Given the description of an element on the screen output the (x, y) to click on. 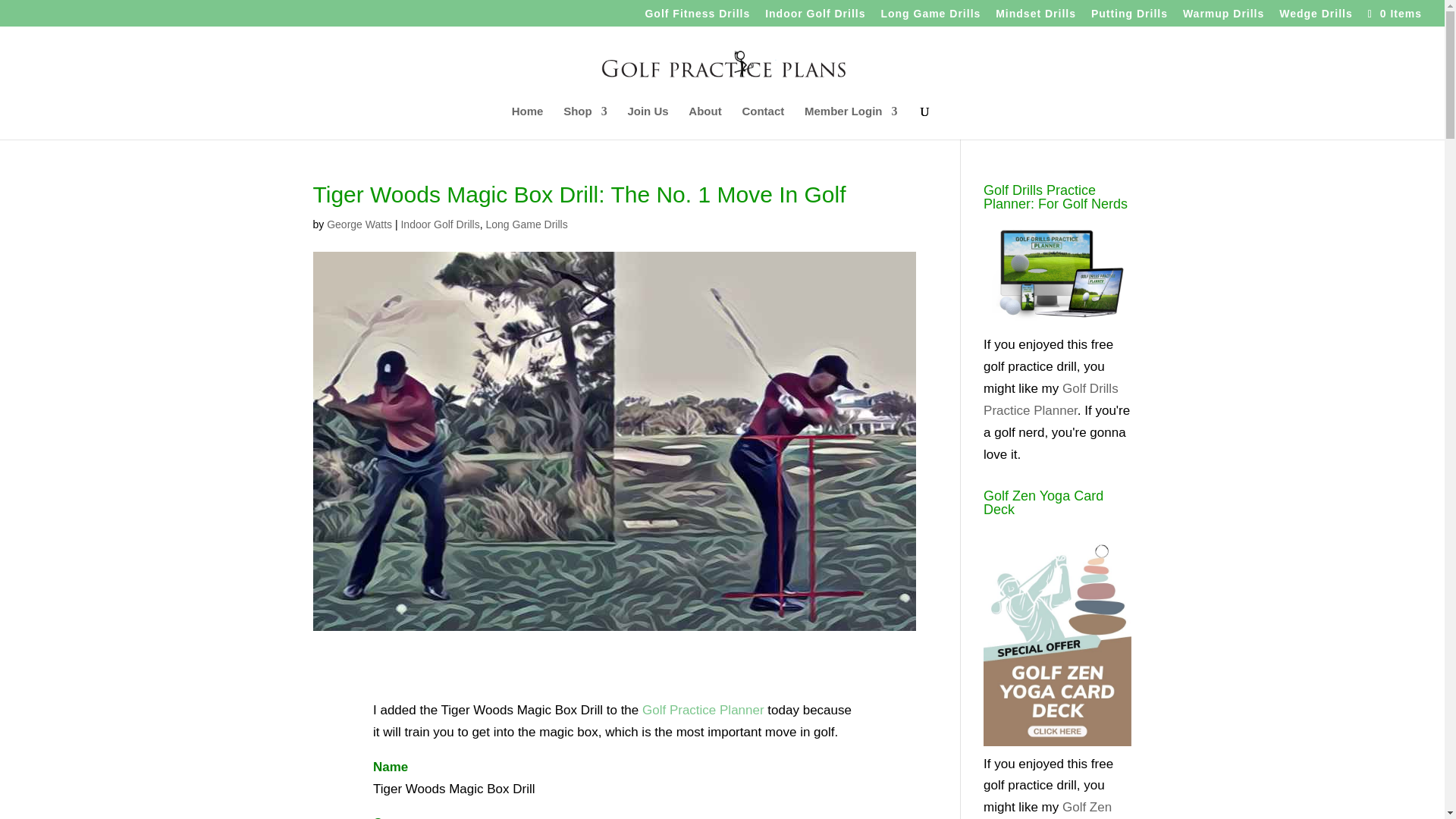
Wedge Drills (1315, 16)
Indoor Golf Drills (814, 16)
Long Game Drills (929, 16)
Golf Fitness Drills (697, 16)
Warmup Drills (1222, 16)
Contact (762, 122)
Join Us (647, 122)
Member Login (851, 122)
Putting Drills (1128, 16)
Home (527, 122)
0 Items (1393, 13)
About (704, 122)
Mindset Drills (1035, 16)
Posts by George Watts (358, 224)
Shop (585, 122)
